Given the description of an element on the screen output the (x, y) to click on. 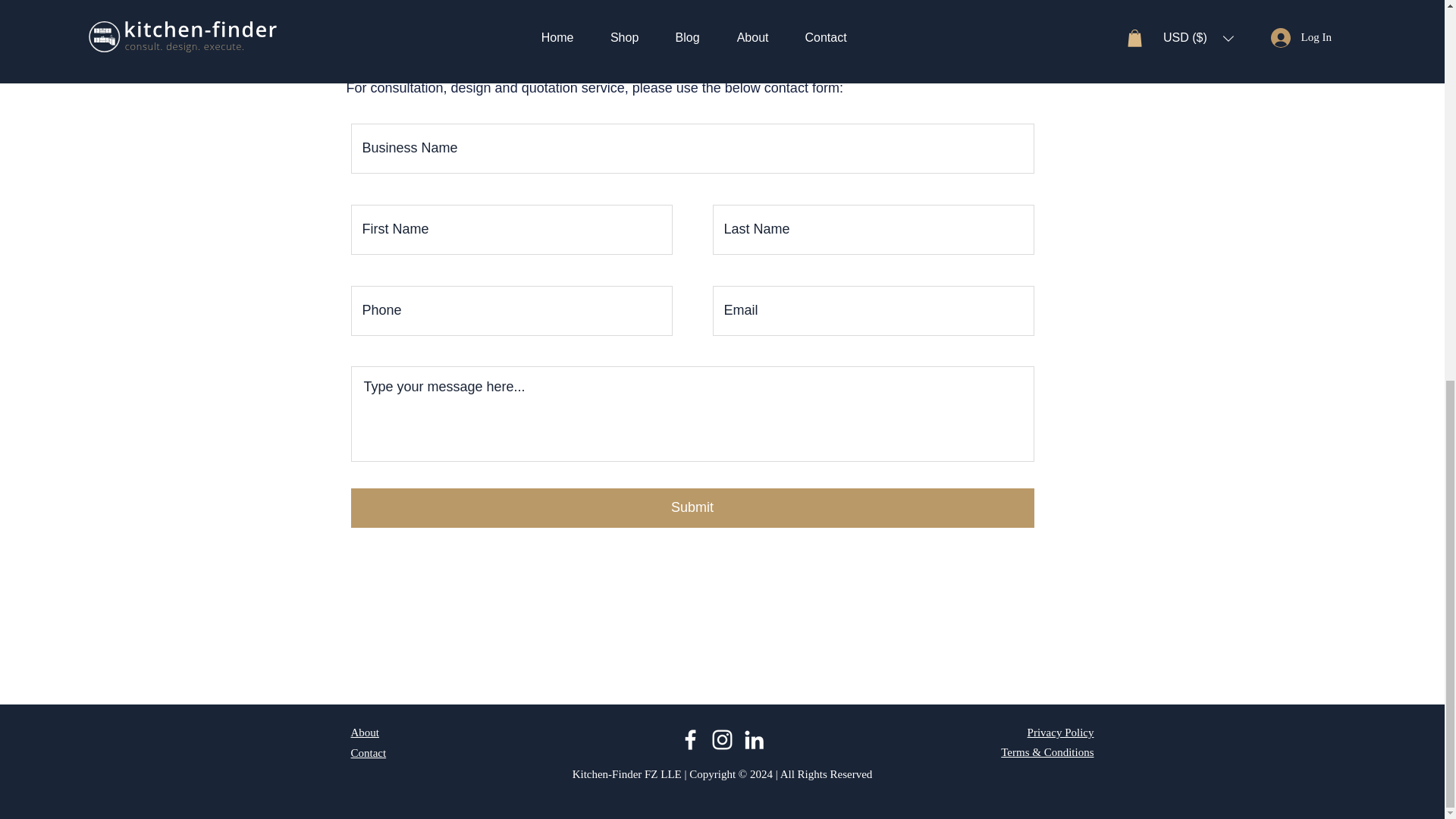
Privacy Policy (1060, 732)
Contact (367, 752)
About (364, 732)
